Given the description of an element on the screen output the (x, y) to click on. 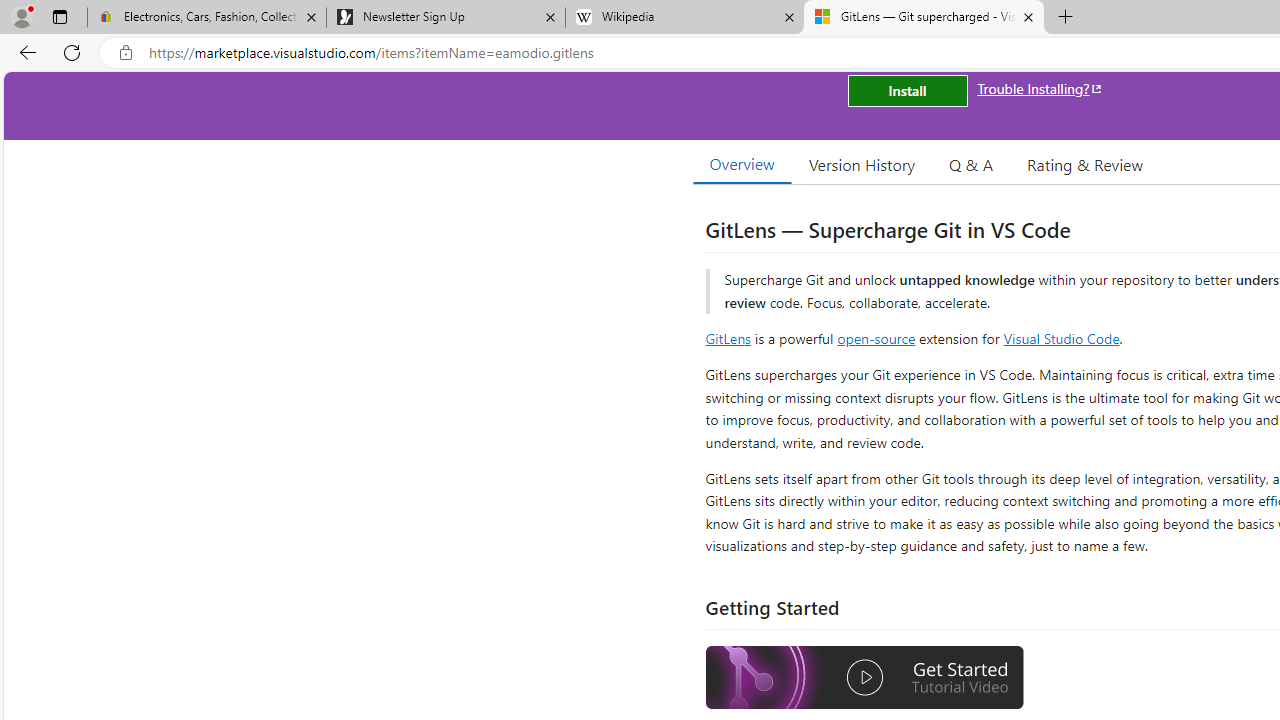
Install (907, 90)
Rating & Review (1084, 164)
Version History (862, 164)
